Given the description of an element on the screen output the (x, y) to click on. 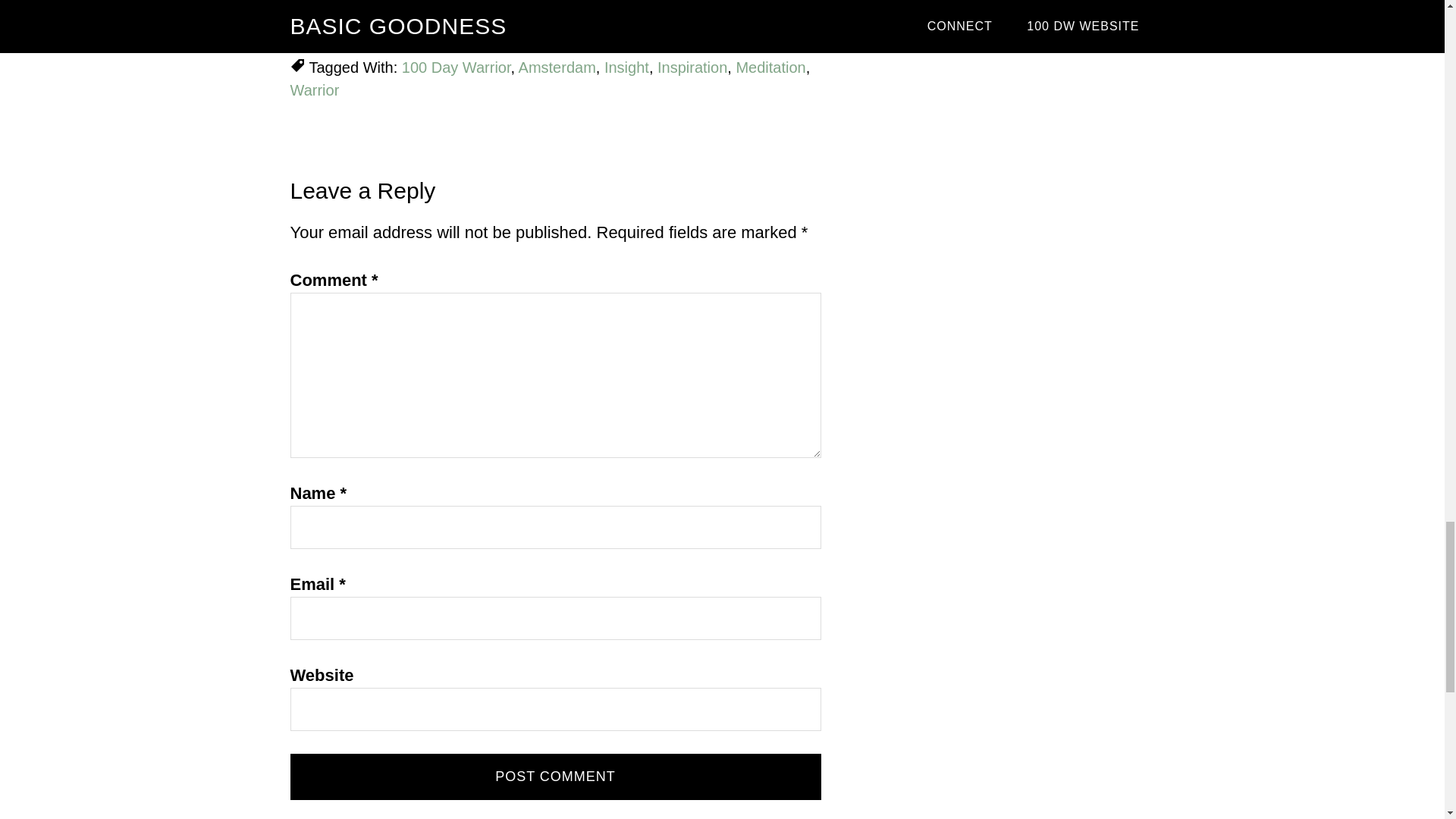
Basic Goodness (451, 44)
Warrior (314, 89)
Amsterdam (556, 67)
Meditation (770, 67)
Post Comment (555, 776)
100 Day Warrior (456, 67)
Climbing Back On The Wagon: On How To Overcome Obstacles (557, 3)
Post Comment (555, 776)
Inspiration (692, 67)
Climbing Back On The Wagon: On How To Overcome Obstacles (557, 3)
